Given the description of an element on the screen output the (x, y) to click on. 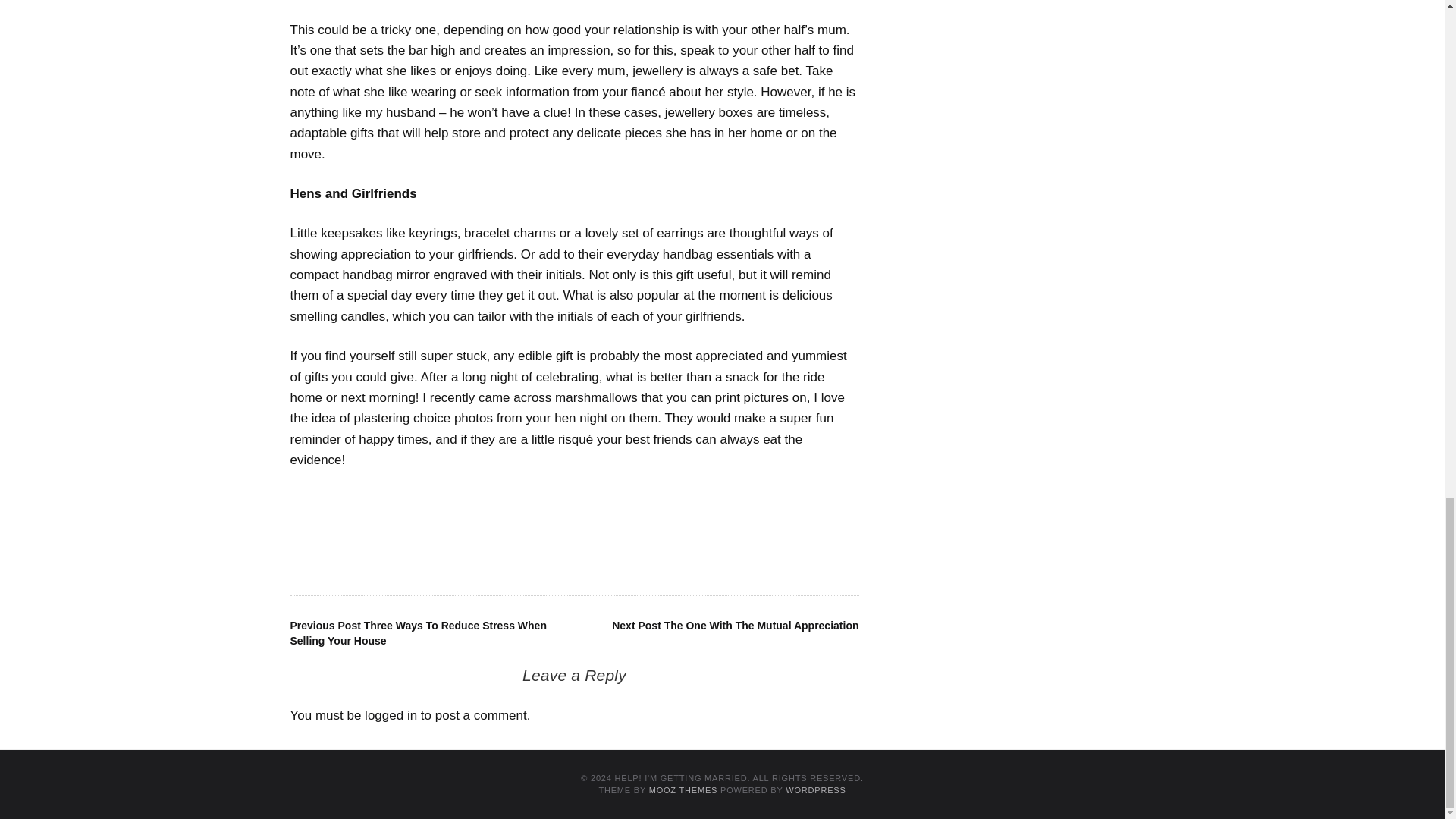
marshmallows (595, 397)
jewellery boxes (708, 112)
MOOZ THEMES (683, 789)
WORDPRESS (815, 789)
Next Post The One With The Mutual Appreciation (735, 625)
logged in (390, 715)
